Given the description of an element on the screen output the (x, y) to click on. 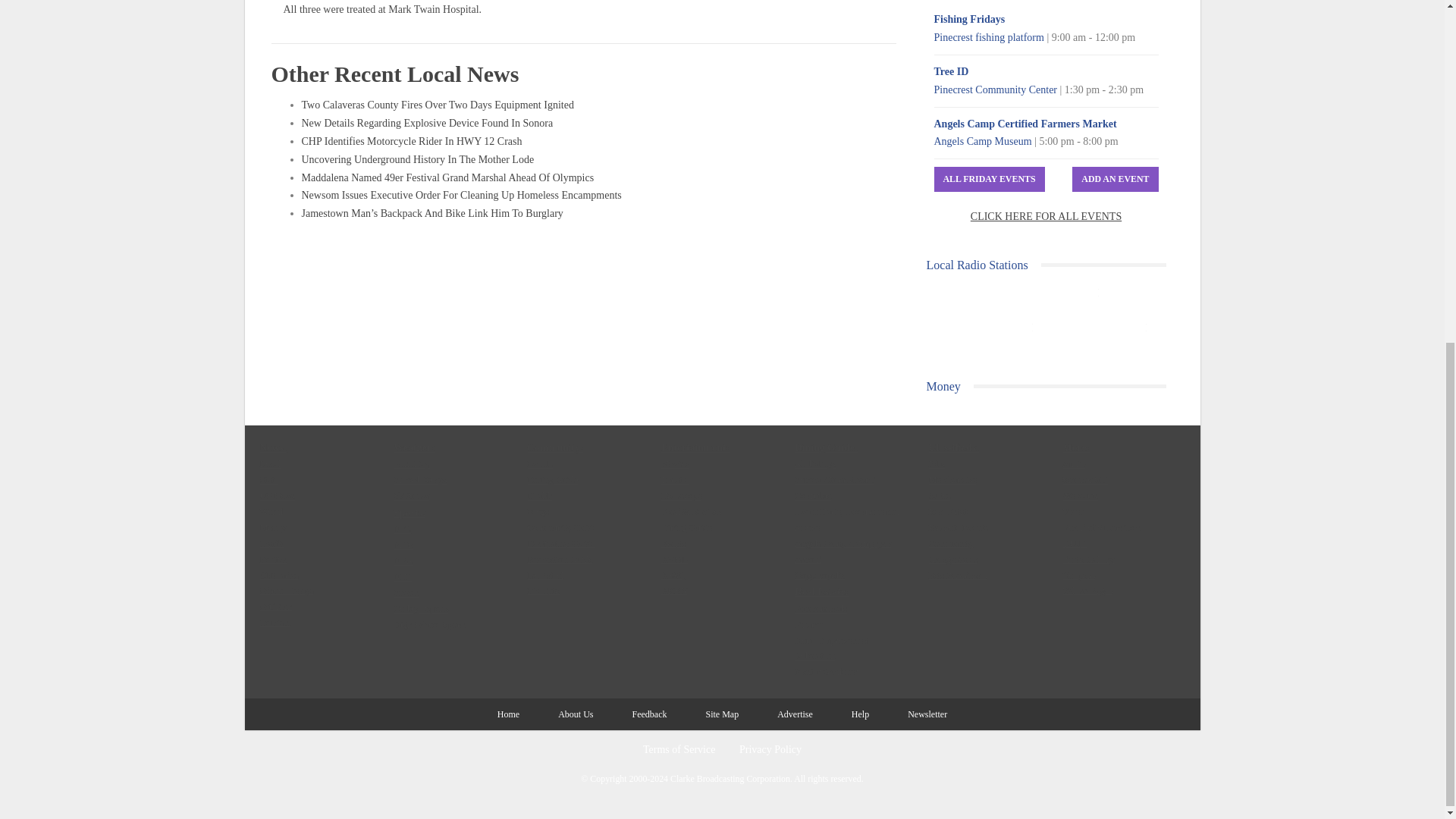
Add An Event (1114, 179)
All Friday Events (989, 179)
